Given the description of an element on the screen output the (x, y) to click on. 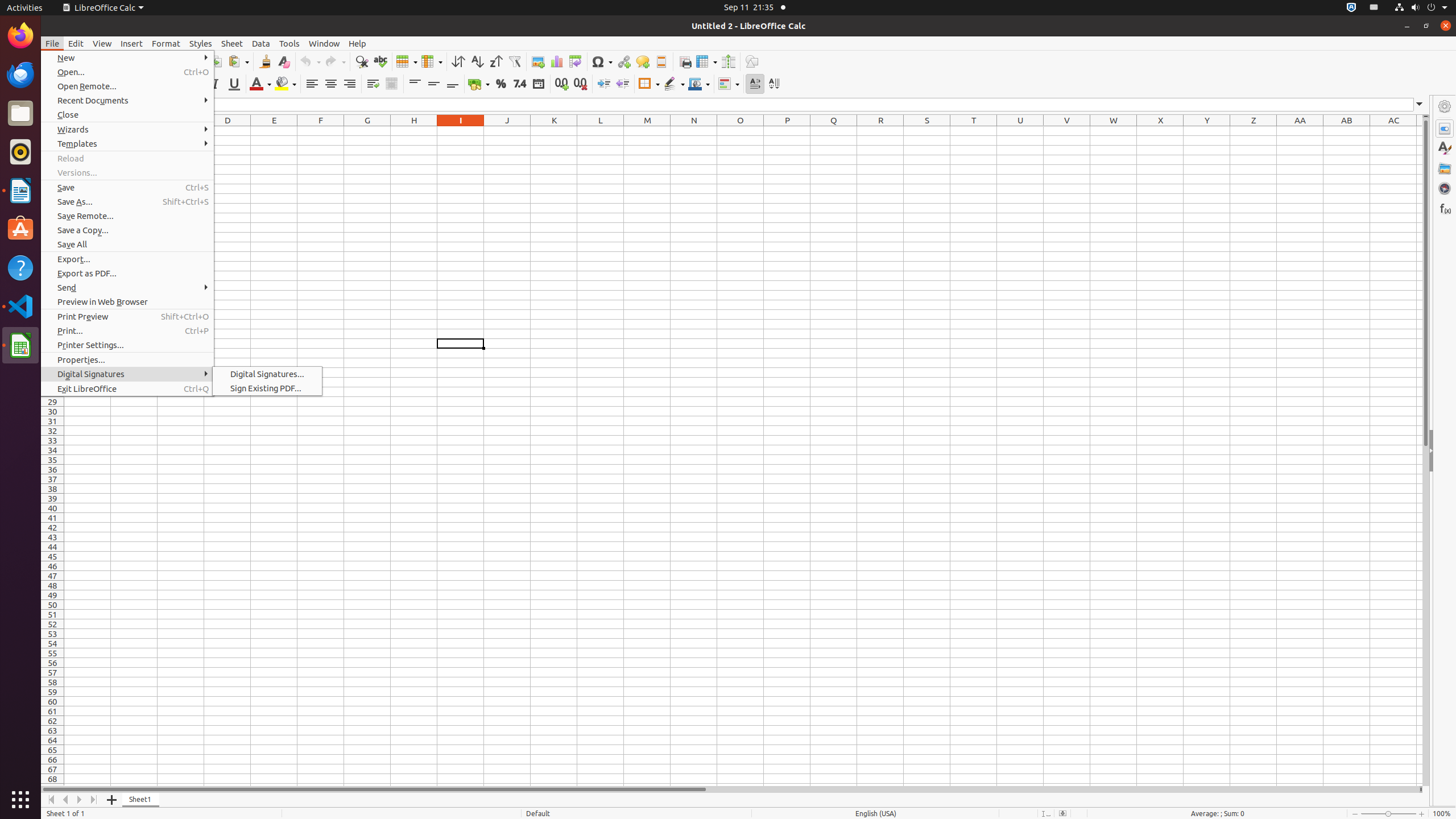
Align Right Element type: push-button (349, 83)
LibreOffice Calc Element type: menu (102, 7)
AC1 Element type: table-cell (1393, 130)
Hyperlink Element type: toggle-button (623, 61)
Templates Element type: menu (126, 143)
